Given the description of an element on the screen output the (x, y) to click on. 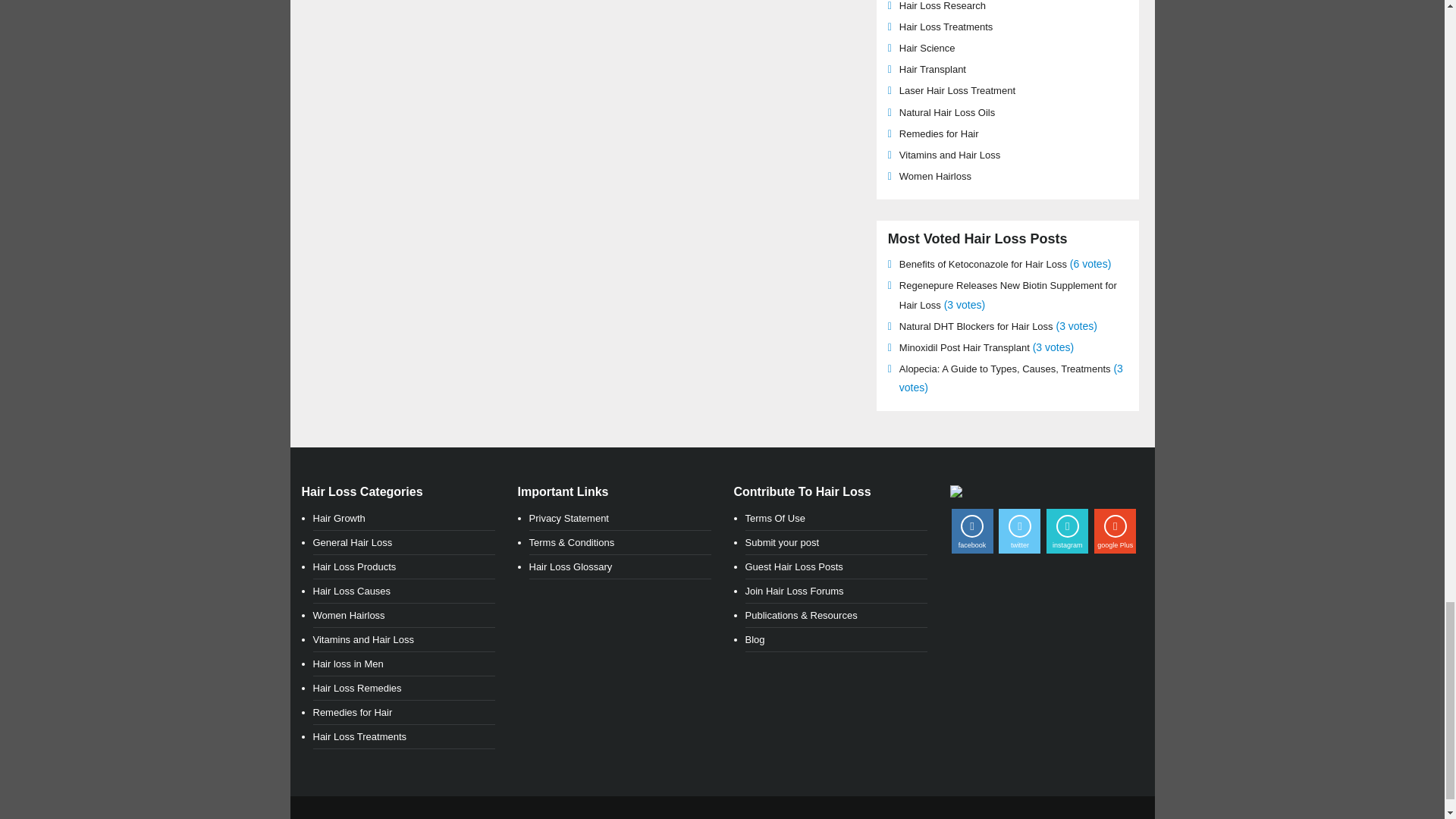
Google Plus (1114, 530)
Instagram (1066, 530)
Facebook (971, 530)
Twitter (1019, 530)
